Given the description of an element on the screen output the (x, y) to click on. 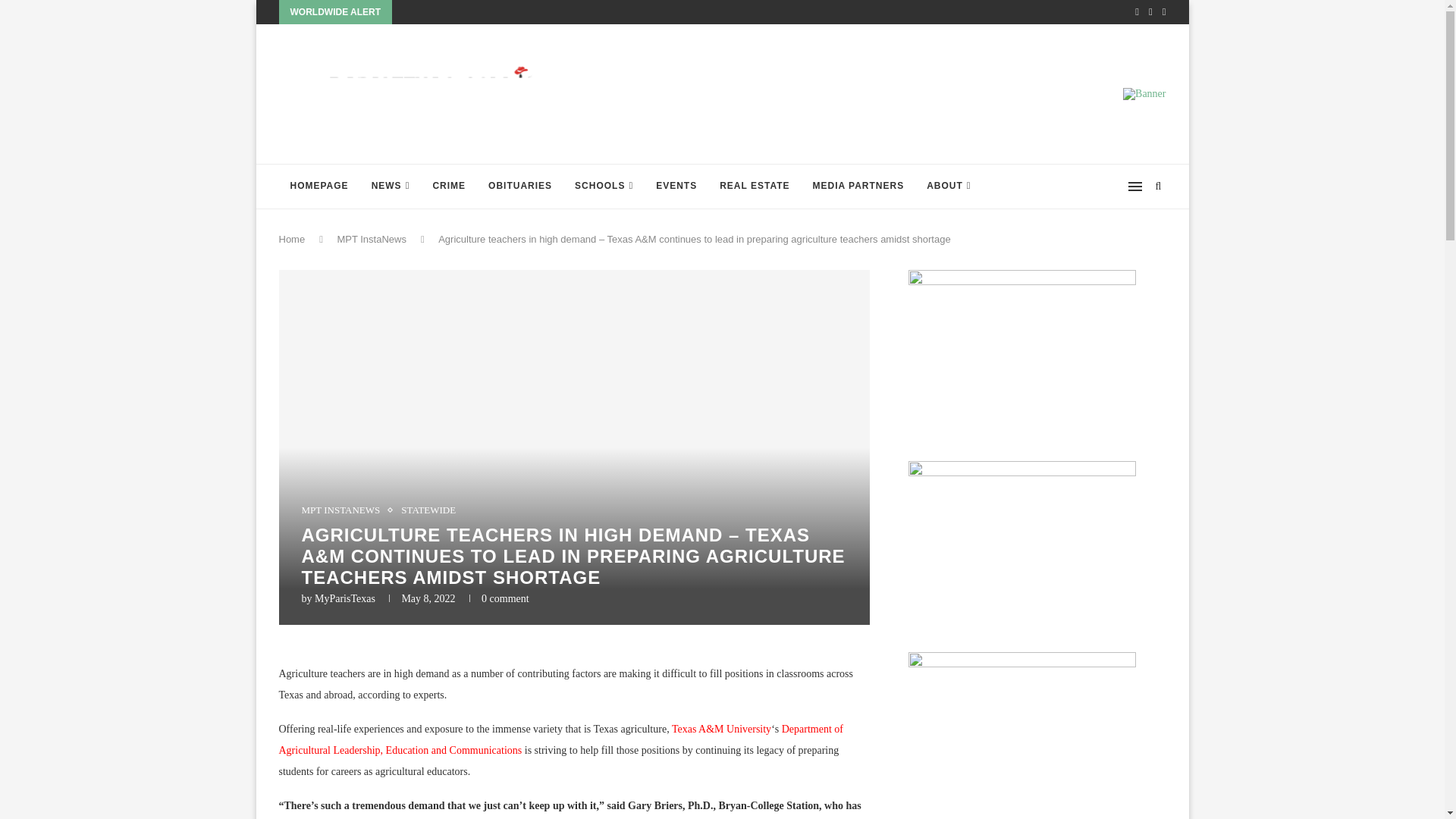
NEWS (390, 186)
HOMEPAGE (319, 186)
